Given the description of an element on the screen output the (x, y) to click on. 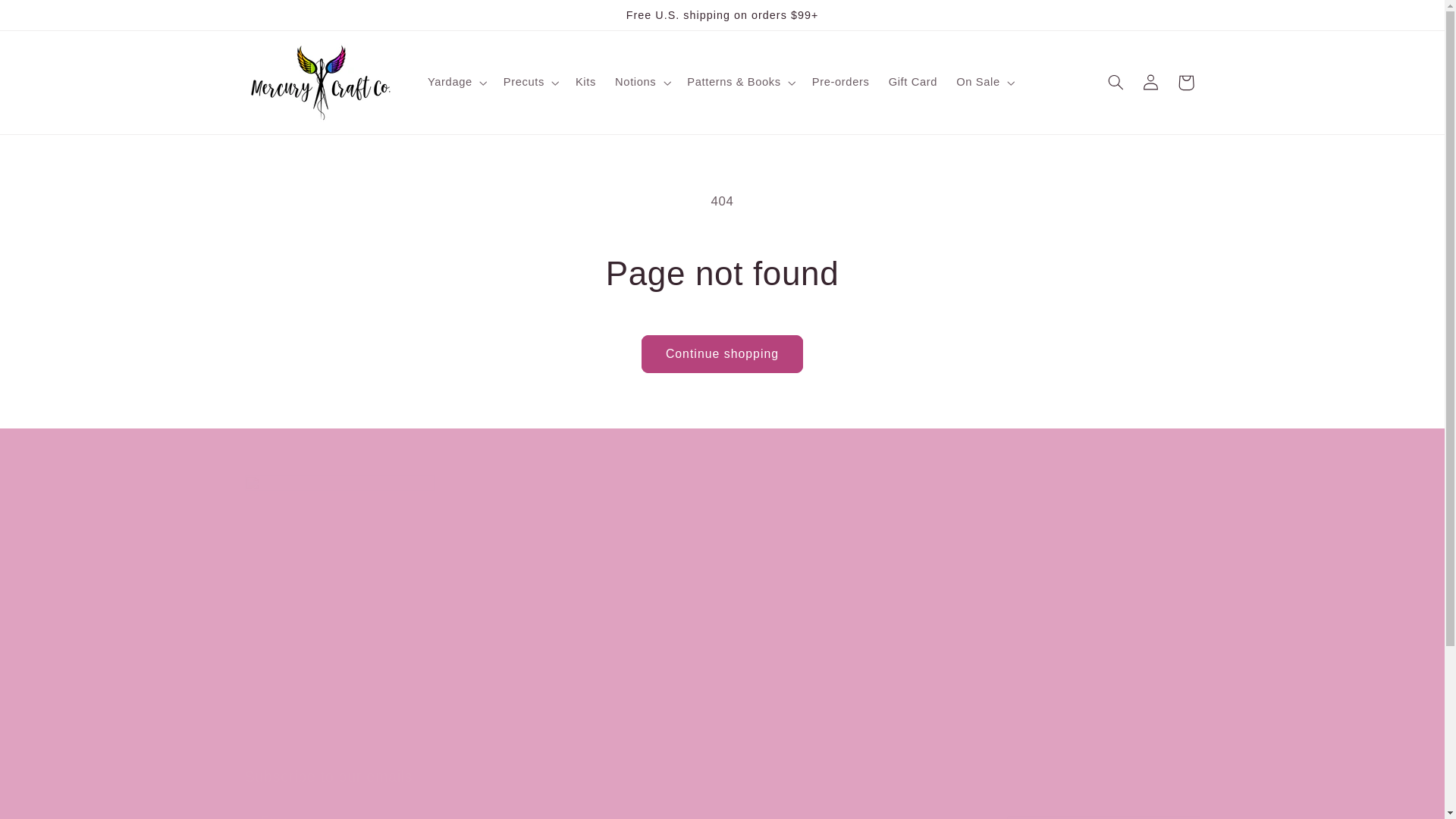
Skip to content (48, 18)
